Given the description of an element on the screen output the (x, y) to click on. 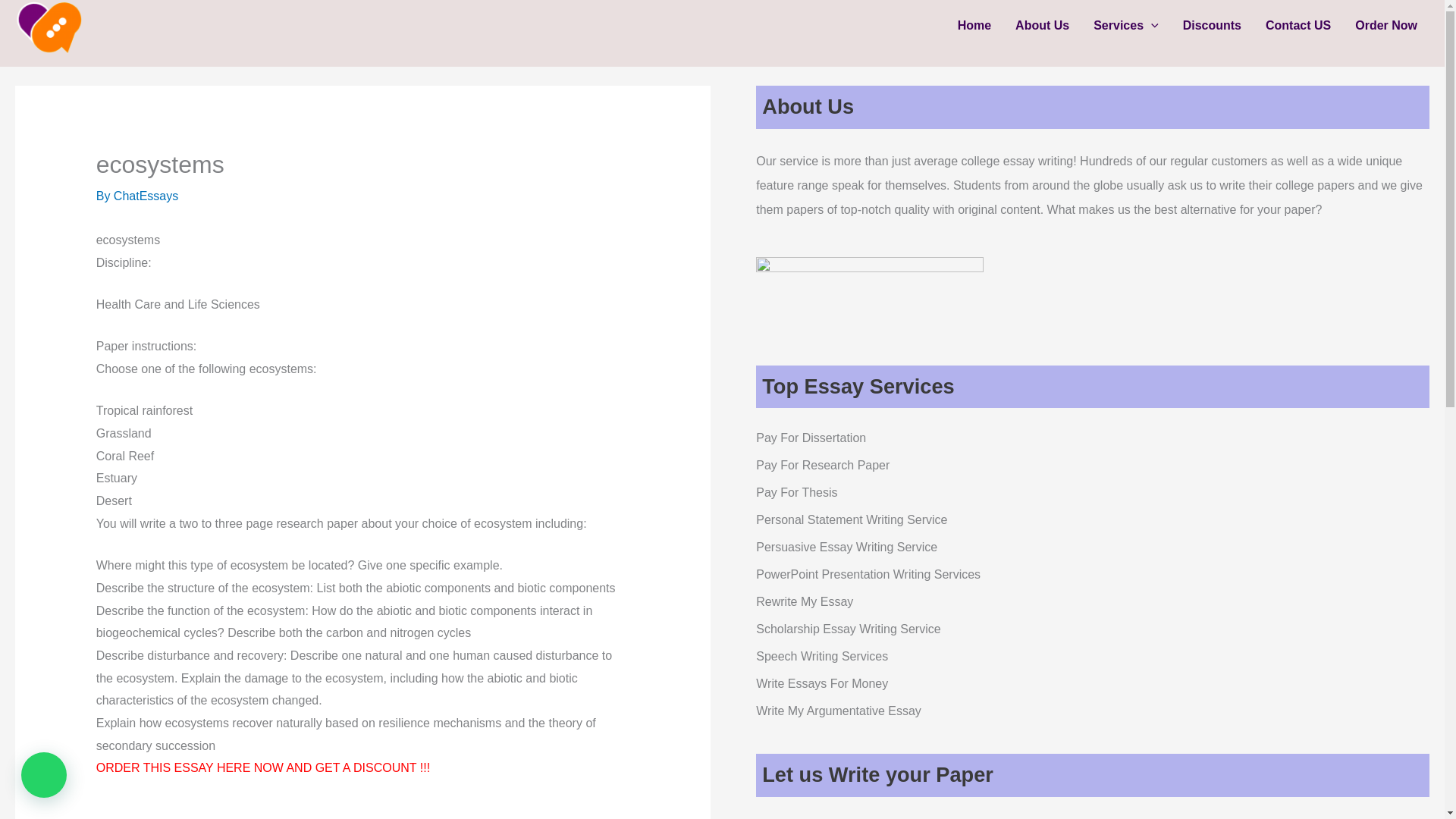
Home (973, 25)
About Us (1042, 25)
Order Now (1385, 25)
View all posts by ChatEssays (145, 195)
Services (1125, 25)
Contact US (1297, 25)
Discounts (1211, 25)
